Given the description of an element on the screen output the (x, y) to click on. 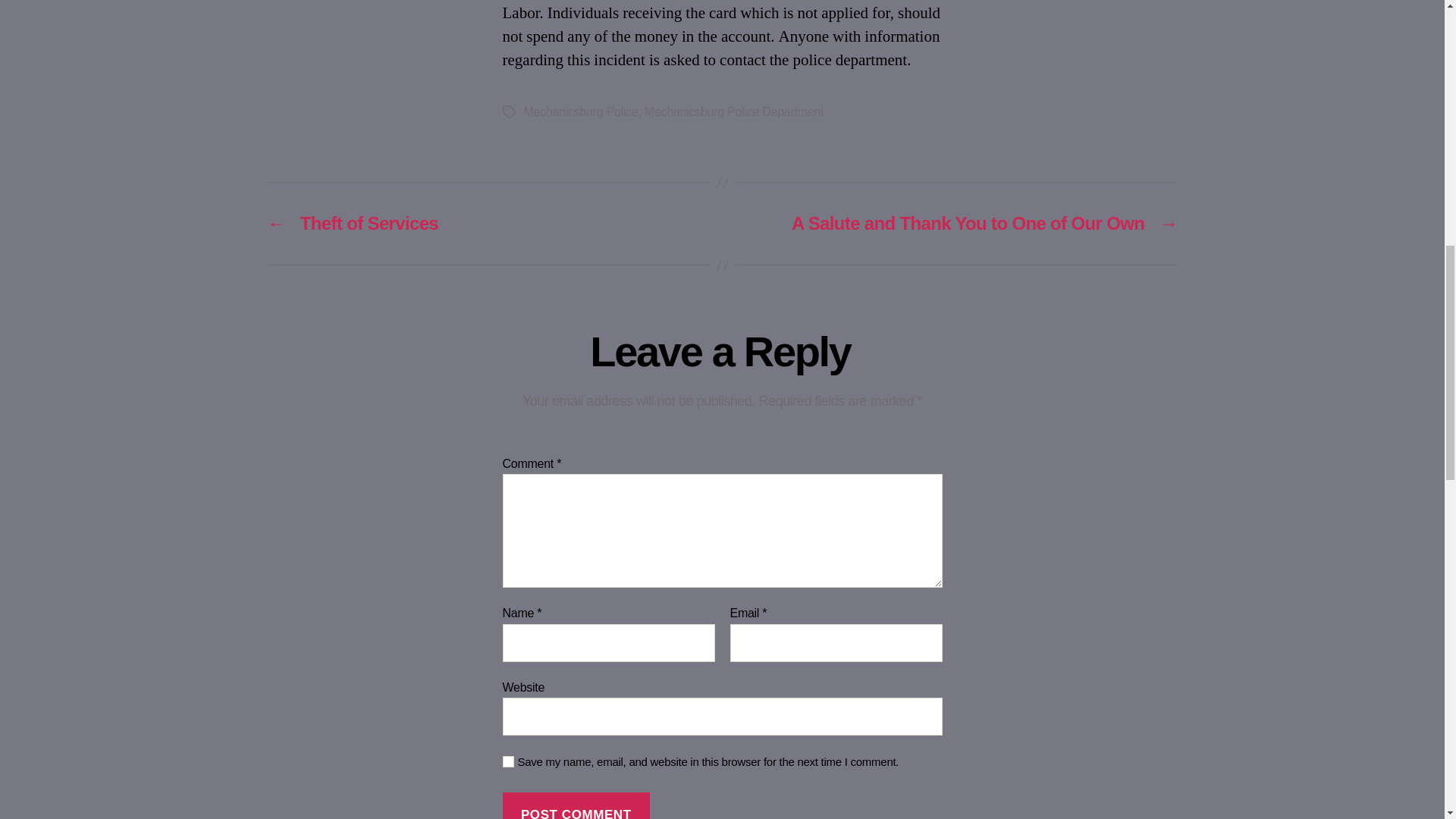
Post Comment (575, 805)
yes (507, 761)
